Given the description of an element on the screen output the (x, y) to click on. 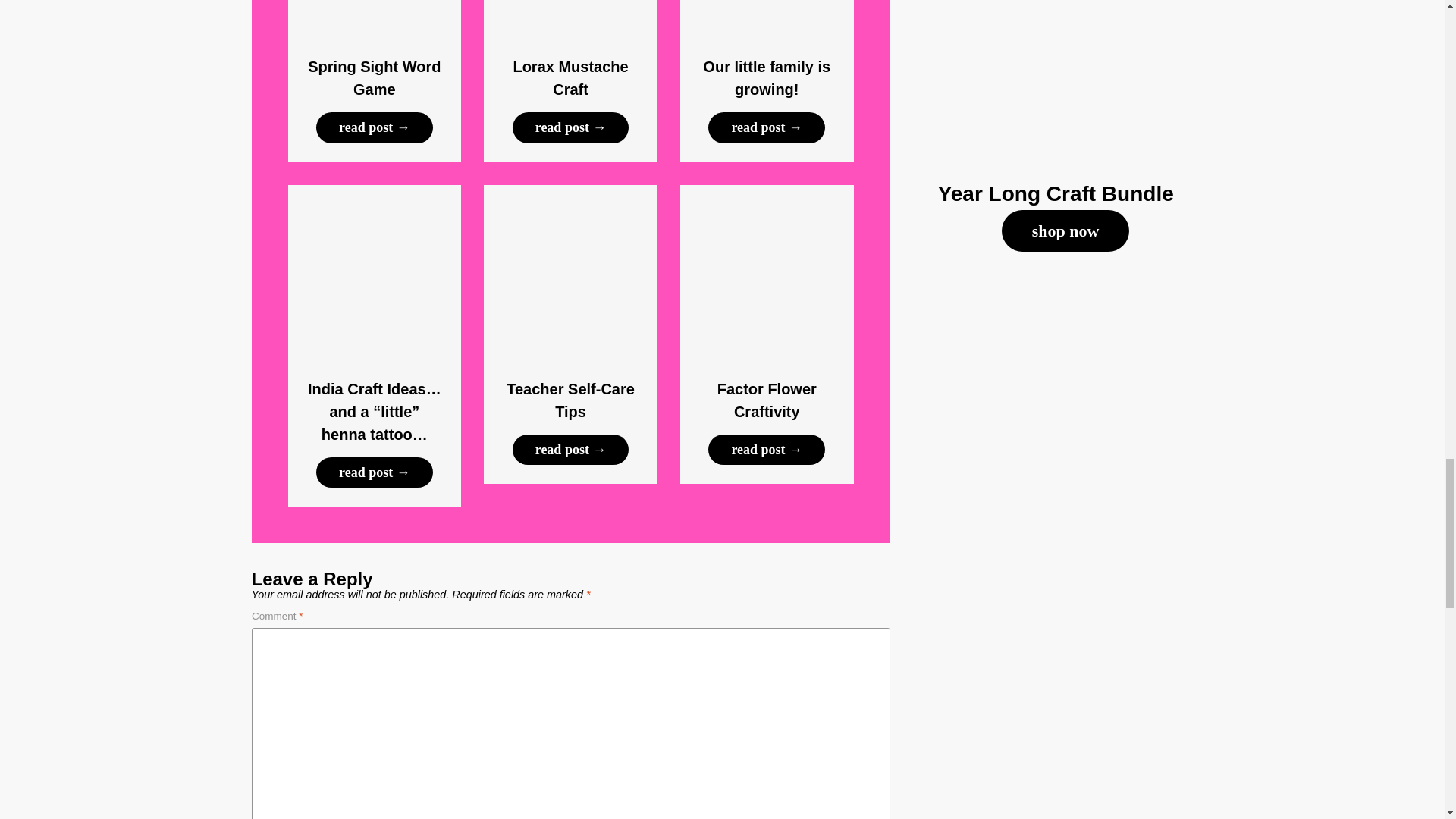
Factor Flower Craftivity 8 (766, 271)
Lorax Mustache Craft 4 (570, 18)
Spring Sight Word Game (373, 77)
Spring Sight Word Game 3 (374, 18)
Lorax Mustache Craft (570, 77)
India Craft Ideas...and a "little" henna tattoo... 6 (374, 271)
Our little family is growing! 5 (766, 18)
Teacher Self-Care Tips 7 (570, 271)
